Given the description of an element on the screen output the (x, y) to click on. 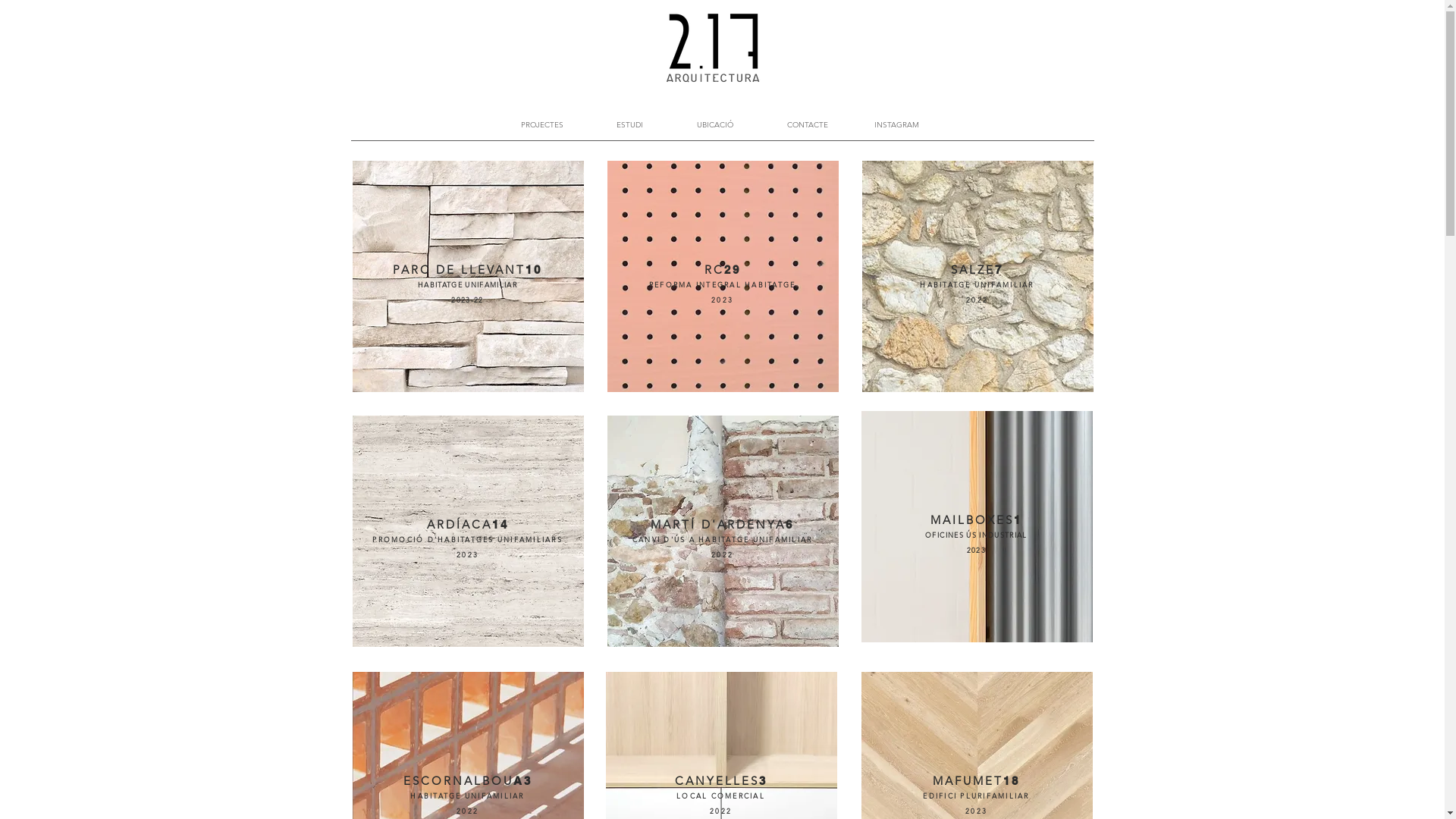
CONTACTE Element type: text (807, 124)
HABITATGE UNIFAMILIAR
2022 Element type: text (467, 803)
RC29
REFORMA INTEGRAL HABITATGE
2023 Element type: text (722, 284)
ESTUDI Element type: text (629, 124)
MAFUMET18
EDIFICI PLURIFAMILIAR
2023 Element type: text (975, 796)
SALZE7
HABITATGE UNIFAMILIAR
2022 Element type: text (976, 284)
CANYELLES3
LOCAL COMERCIAL
2022 Element type: text (720, 796)
PARC DE LLEVANT10 Element type: text (467, 270)
HABITATGE UNIFAMILIAR
2023-22 Element type: text (467, 292)
INSTAGRAM Element type: text (895, 124)
OUA3 Element type: text (511, 781)
ESCORNALB Element type: text (447, 781)
